Given the description of an element on the screen output the (x, y) to click on. 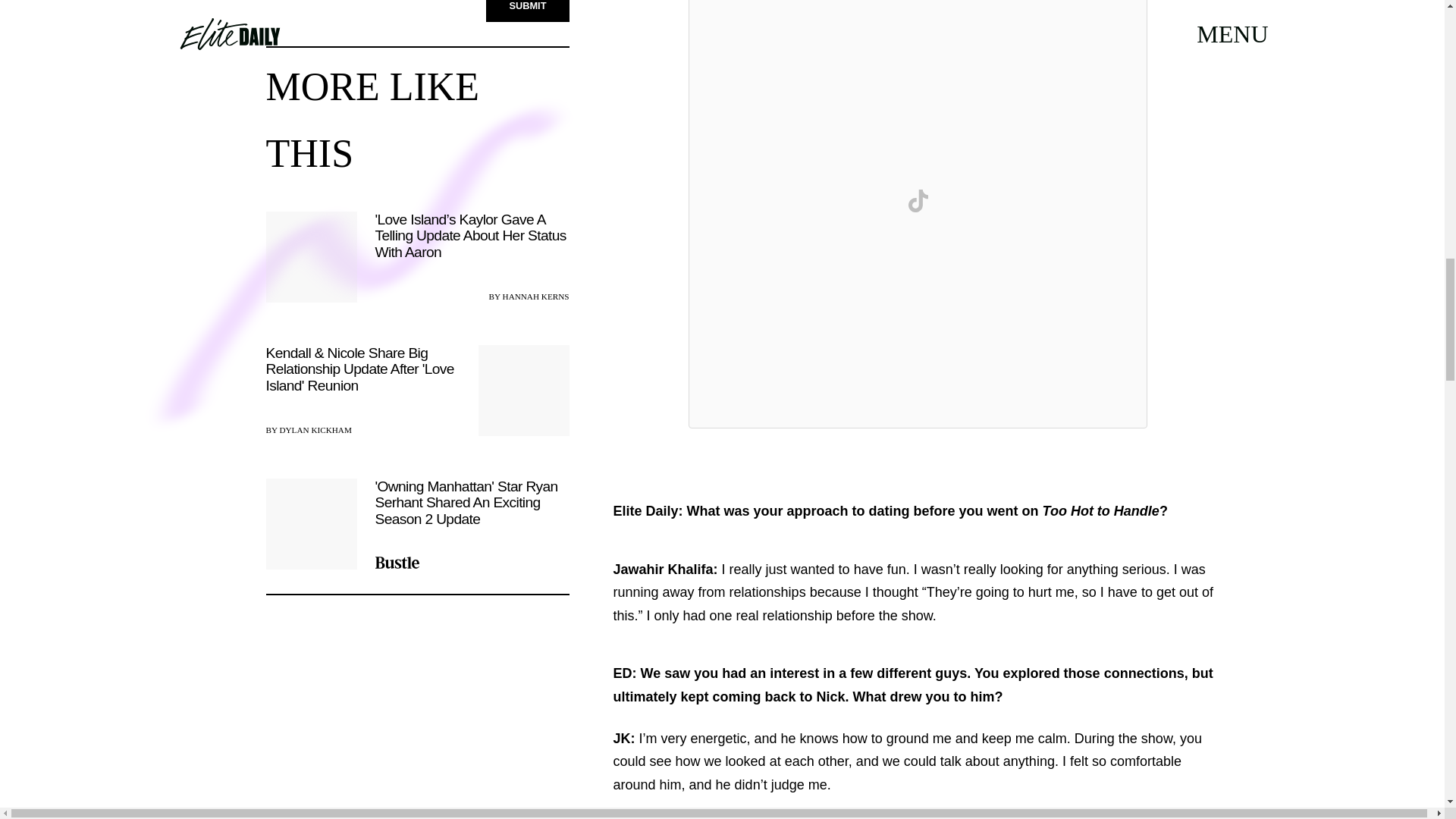
SUBMIT (527, 10)
View on TikTok (917, 200)
